Given the description of an element on the screen output the (x, y) to click on. 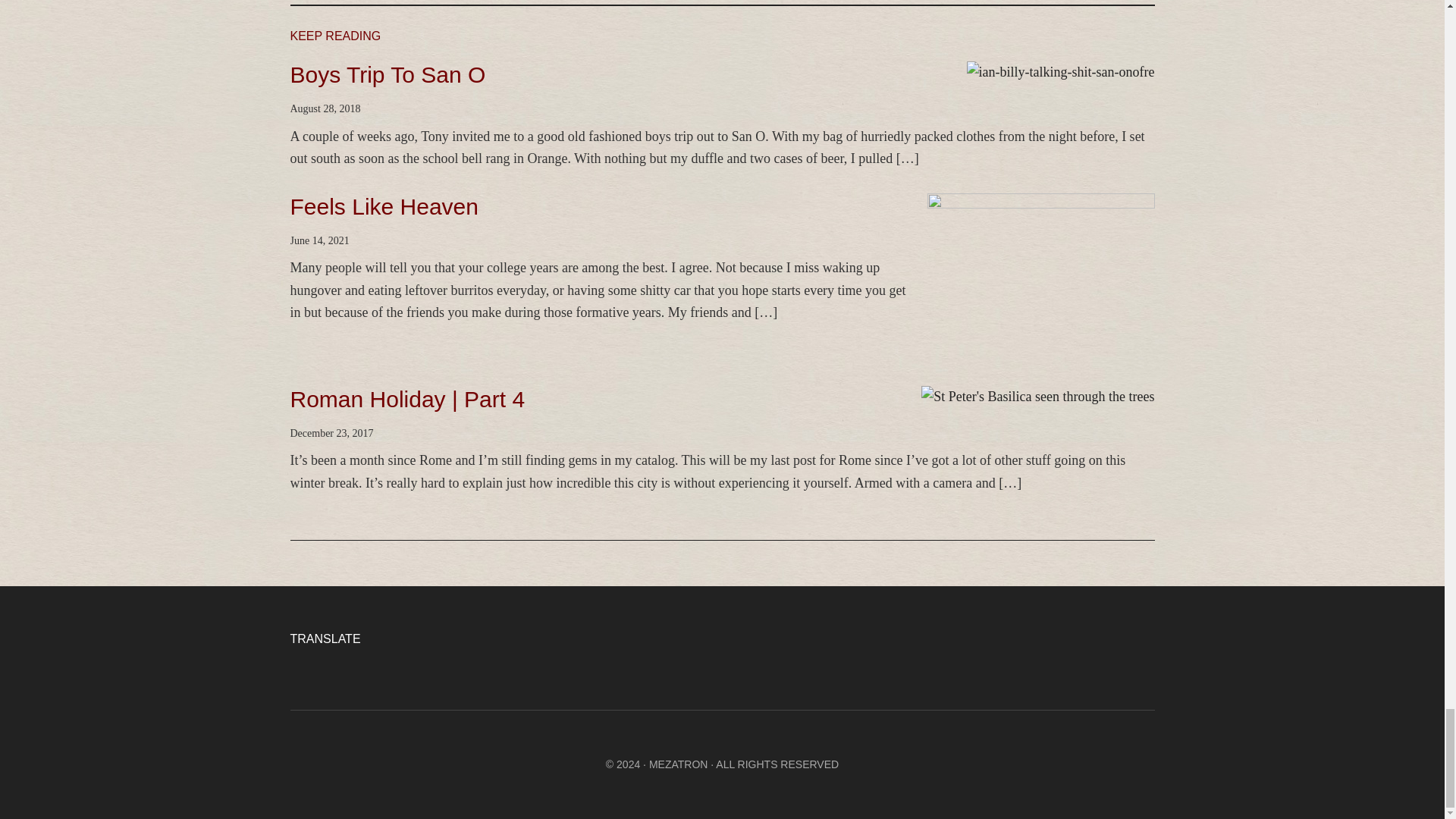
MEZATRON (678, 764)
Boys Trip To San O (386, 74)
Feels Like Heaven (383, 206)
